Given the description of an element on the screen output the (x, y) to click on. 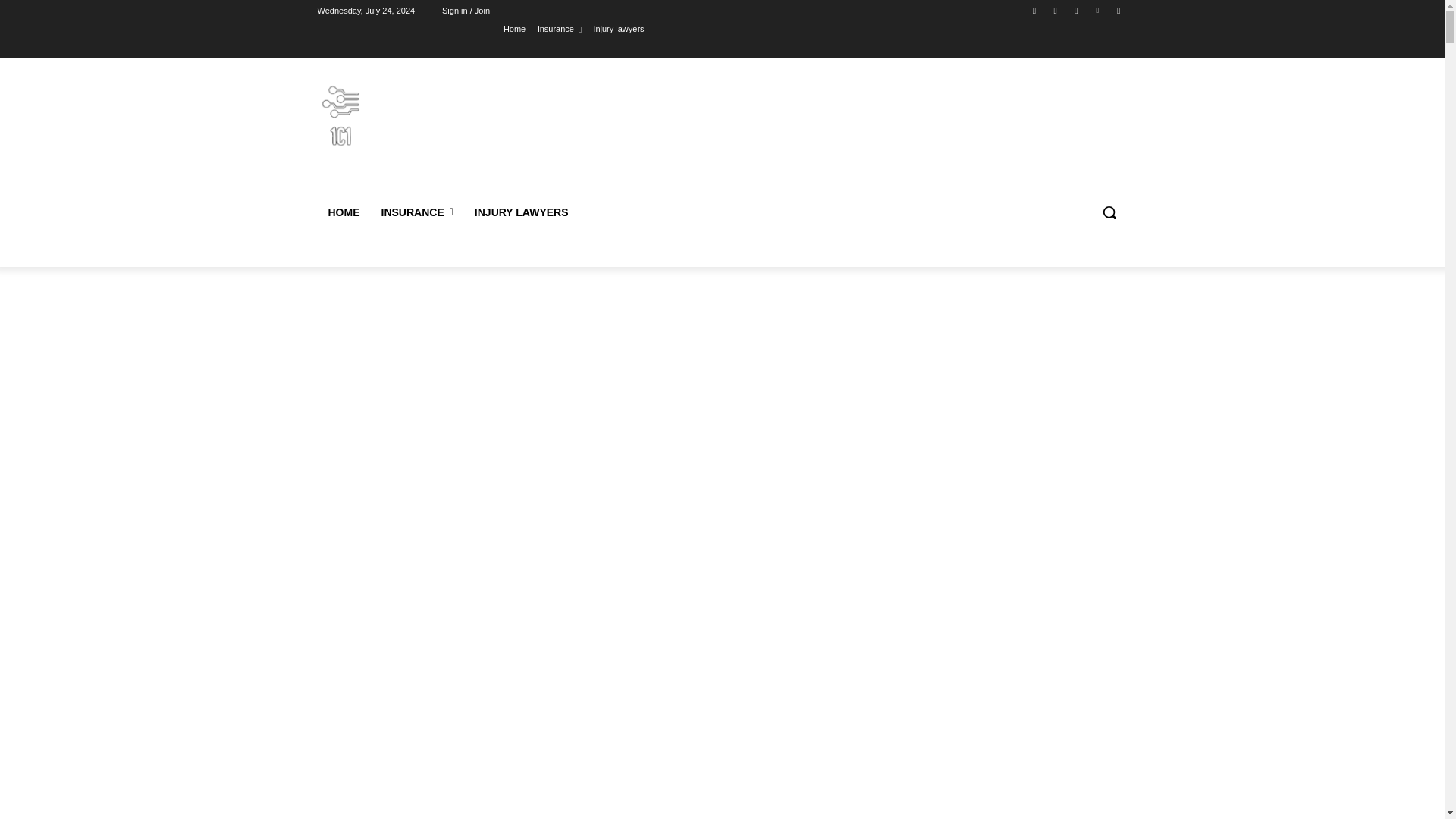
INSURANCE (416, 212)
Advertisement (721, 764)
HOME (343, 212)
insurance (558, 28)
injury lawyers  (620, 28)
Home (514, 28)
Facebook (1034, 9)
INJURY LAWYERS  (523, 212)
Youtube (1117, 9)
Twitter (1075, 9)
Vimeo (1097, 9)
Instagram (1055, 9)
